Given the description of an element on the screen output the (x, y) to click on. 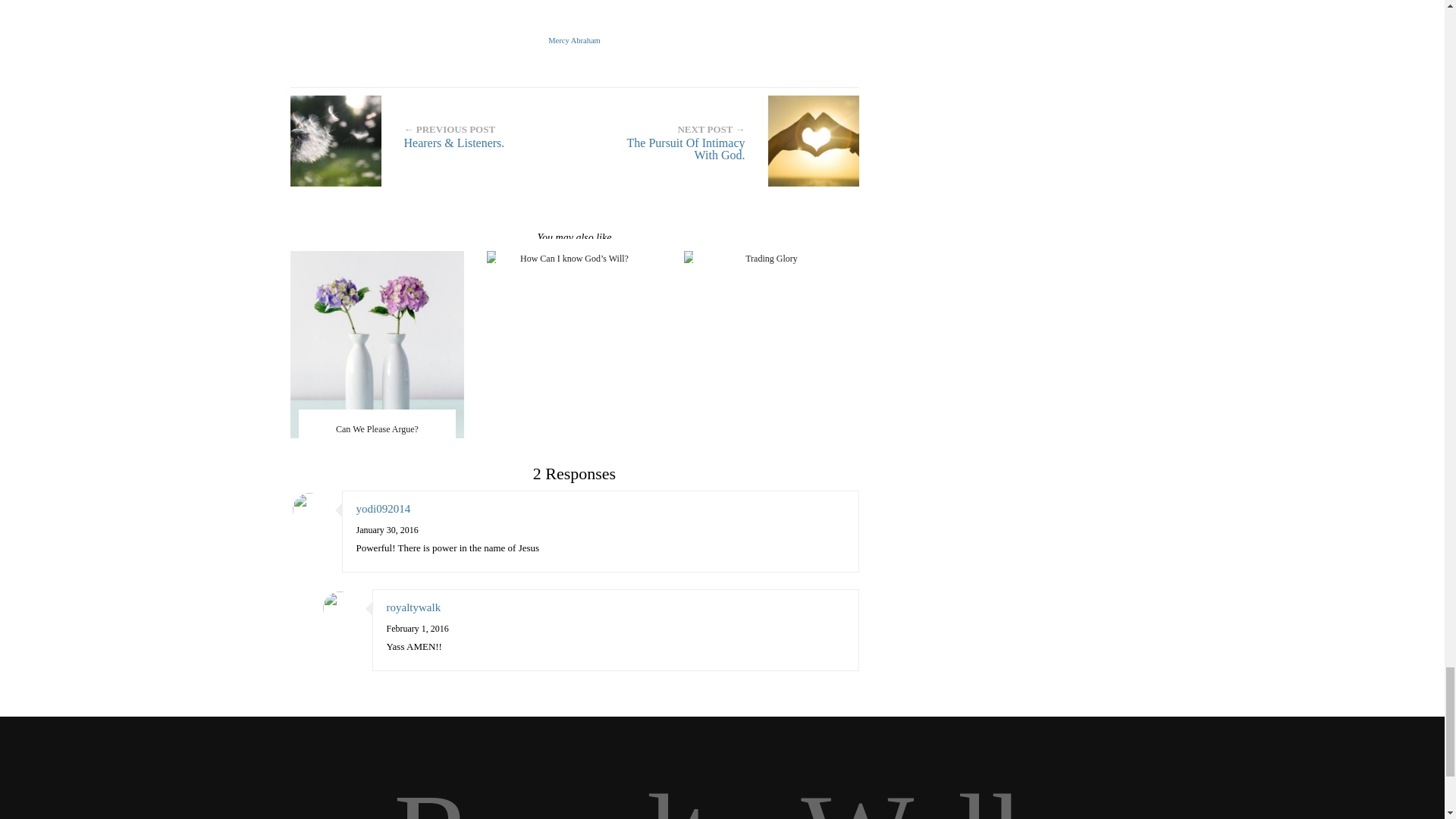
Can We Please Argue? (376, 343)
Mercy Abraham (573, 40)
Posts by Mercy Abraham (573, 40)
Trading Glory (771, 258)
The Pursuit Of Intimacy With God. (722, 140)
